Given the description of an element on the screen output the (x, y) to click on. 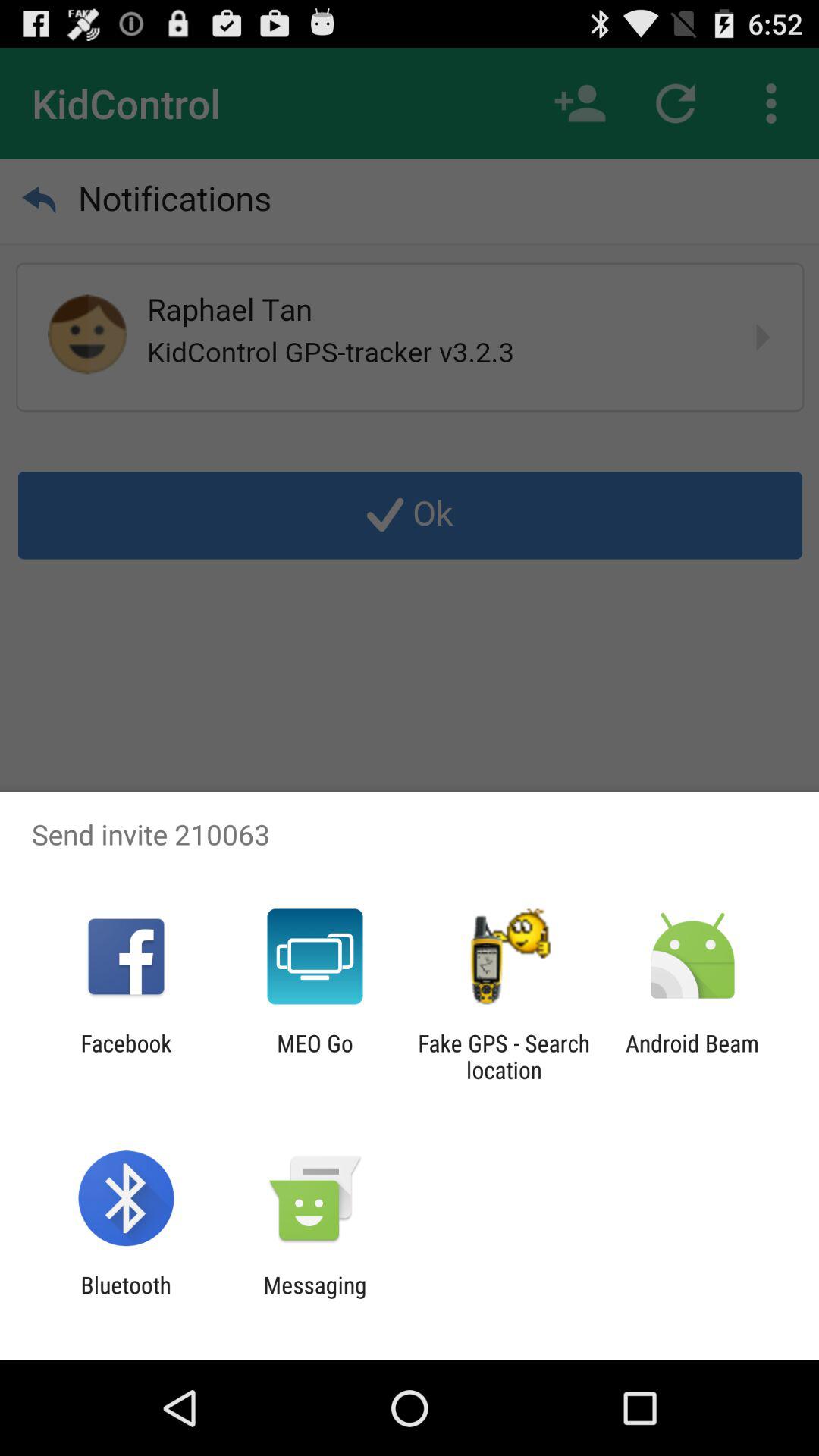
click item next to fake gps search item (314, 1056)
